Given the description of an element on the screen output the (x, y) to click on. 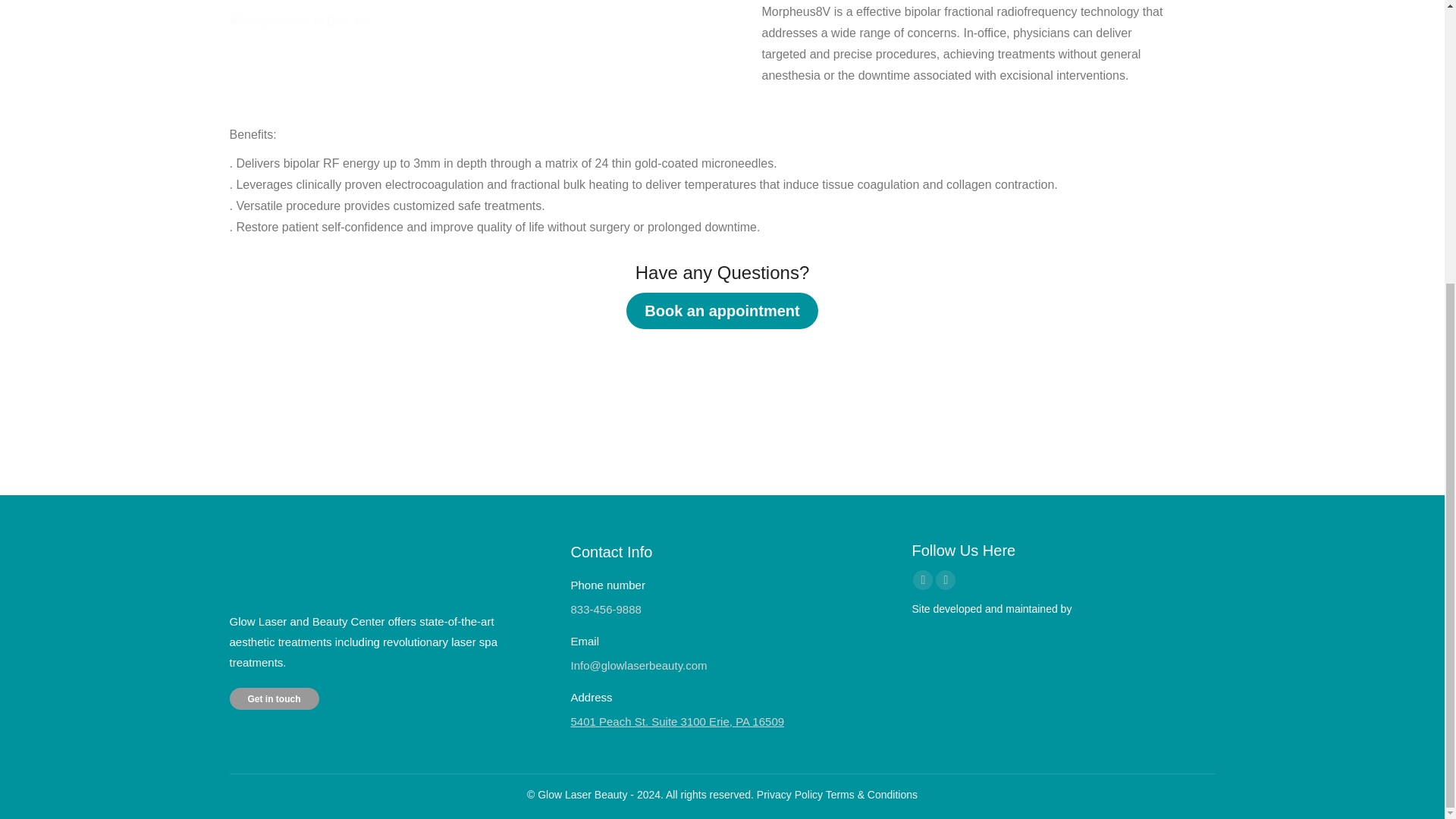
Facebook (922, 579)
Instagram (945, 579)
Morpheus in Erie, PA (298, 21)
